Given the description of an element on the screen output the (x, y) to click on. 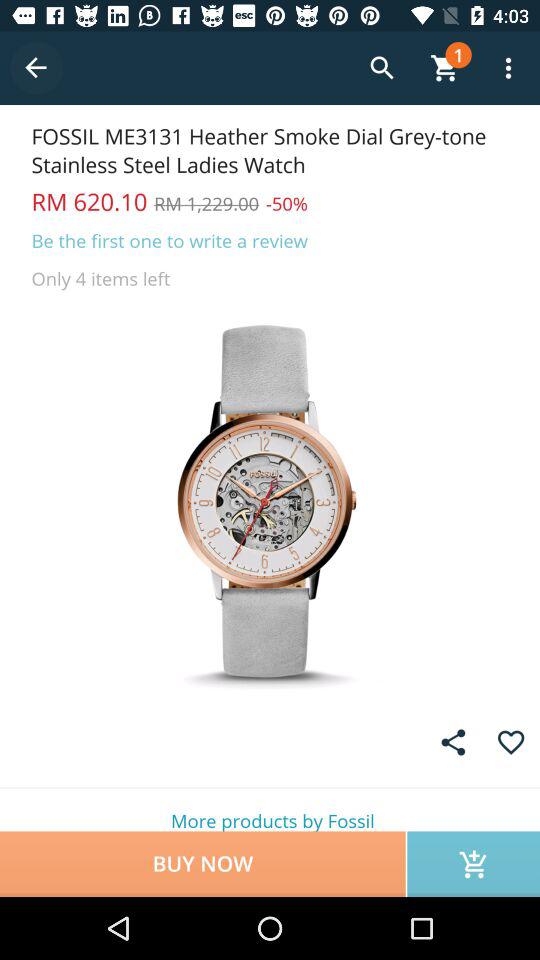
previous screen (36, 68)
